Given the description of an element on the screen output the (x, y) to click on. 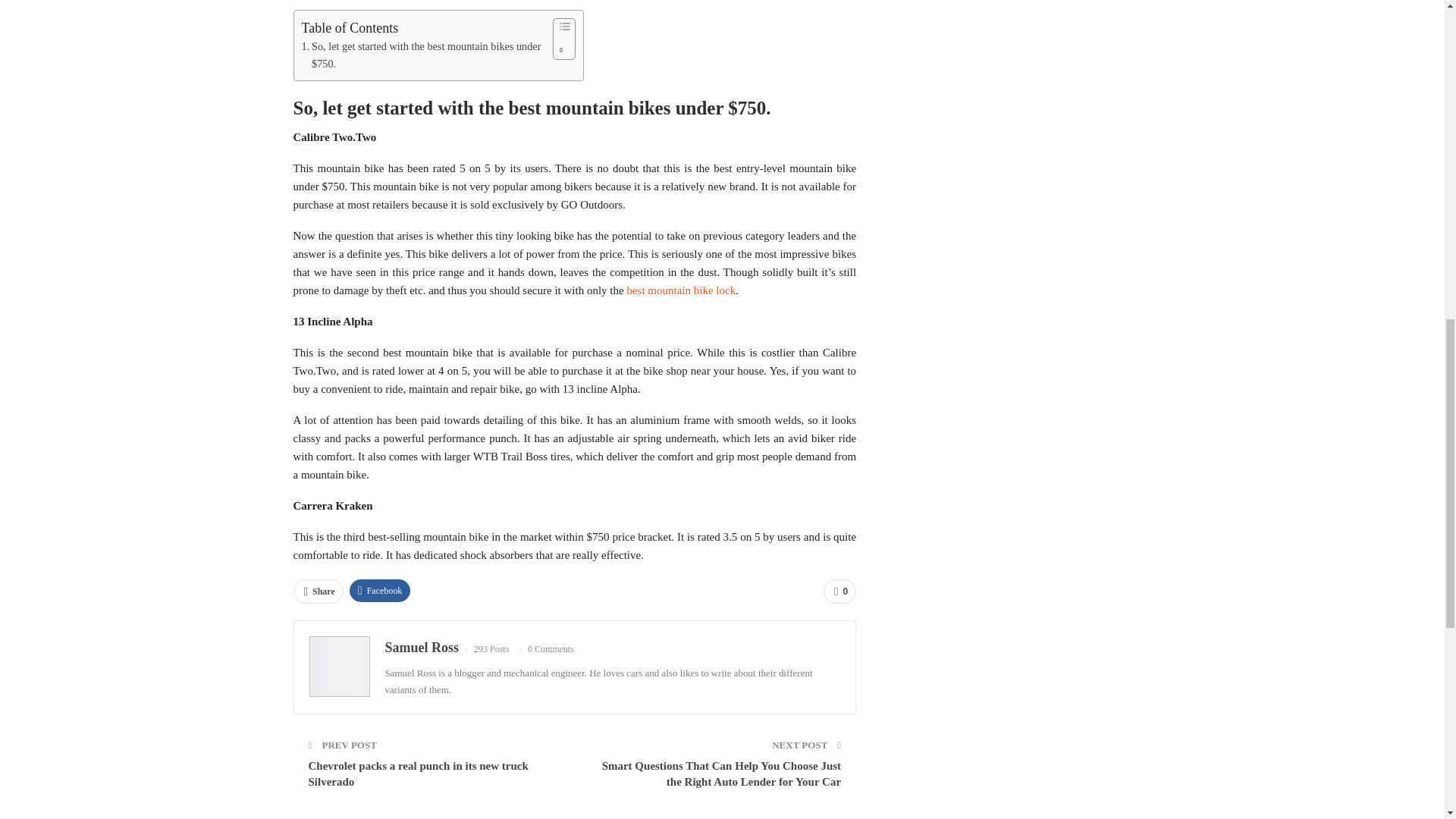
Facebook (379, 590)
0 (840, 591)
best mountain bike lock (680, 290)
Chevrolet packs a real punch in its new truck Silverado (417, 773)
Samuel Ross (422, 647)
